Given the description of an element on the screen output the (x, y) to click on. 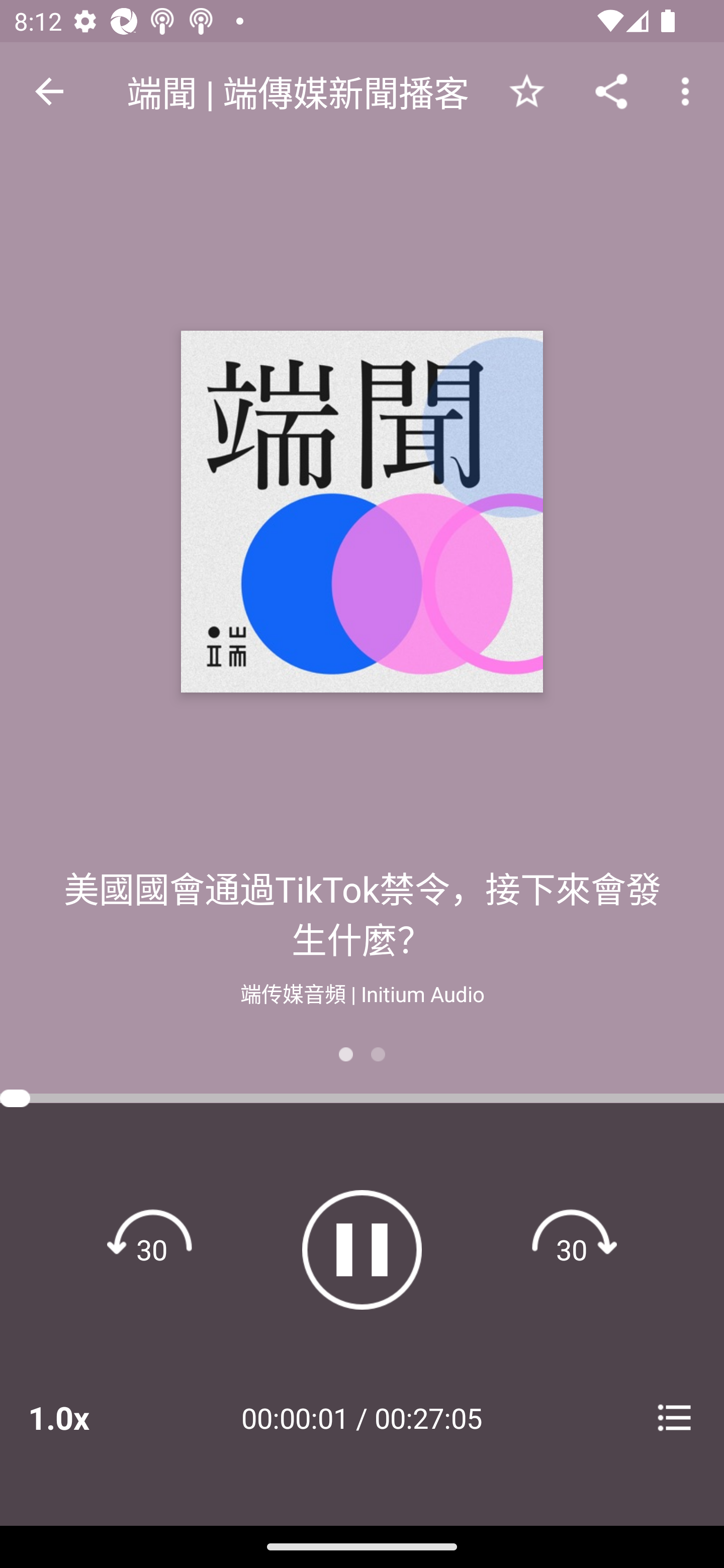
Navigate up (49, 91)
Add to Favorites (526, 90)
Share... (611, 90)
More options (688, 90)
端传媒音頻 | Initium Audio (361, 992)
Pause (361, 1249)
Rewind (151, 1249)
Fast forward (571, 1249)
1.0x Playback Speeds (84, 1417)
00:27:05 (428, 1417)
